Given the description of an element on the screen output the (x, y) to click on. 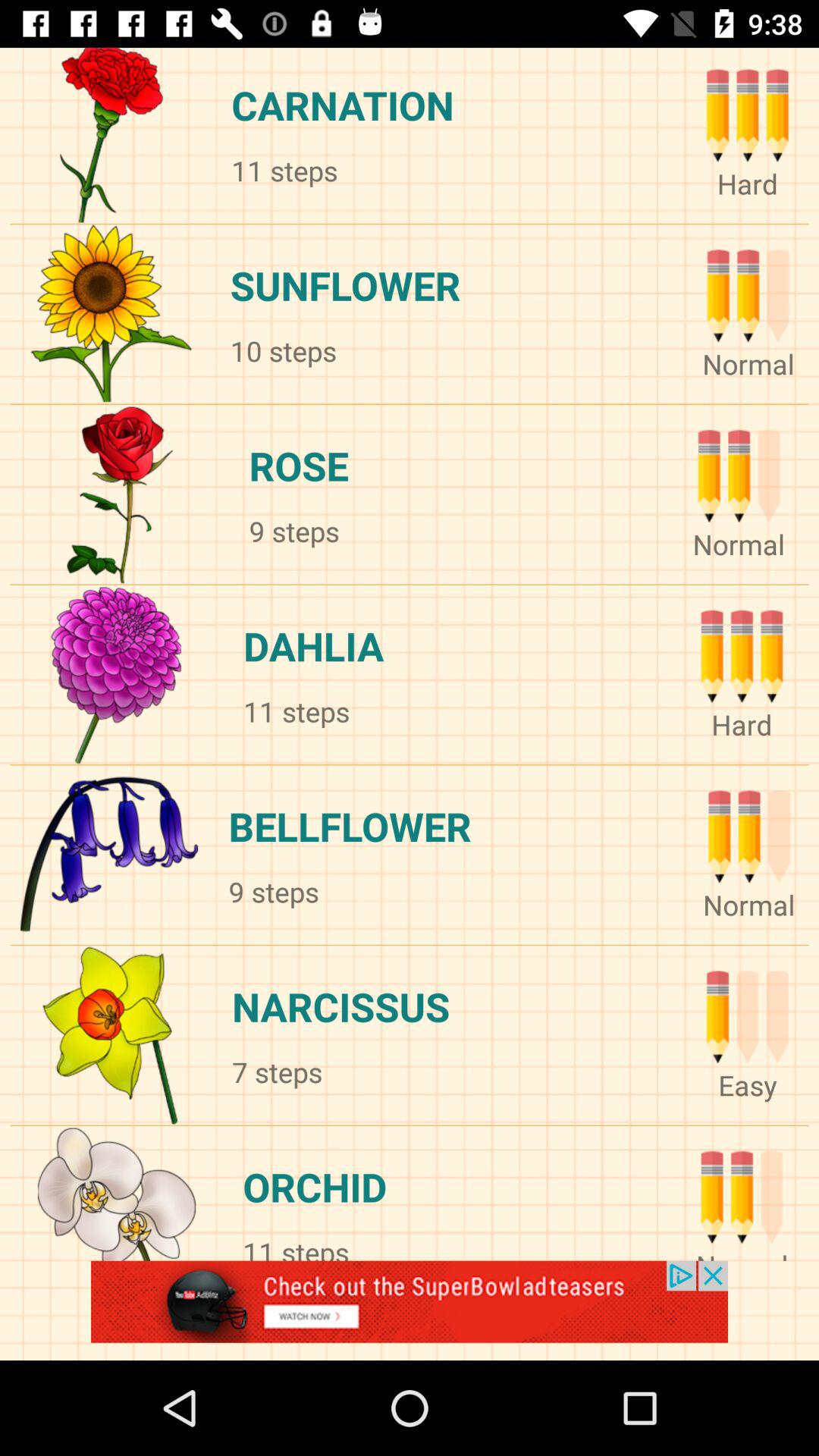
follow advertisement banner (409, 1310)
